Given the description of an element on the screen output the (x, y) to click on. 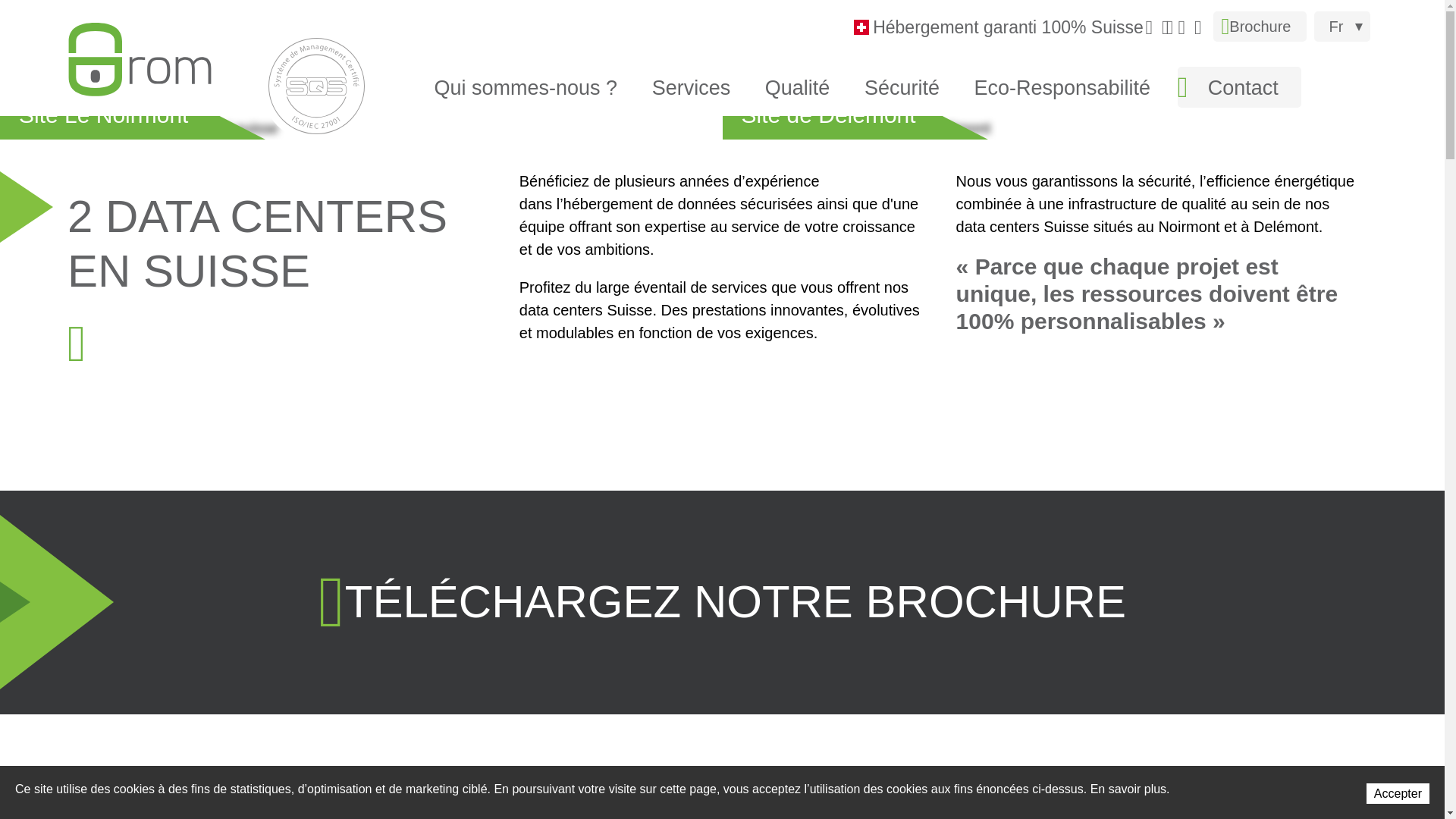
Brochure Element type: text (1259, 26)
Qui sommes-nous ? Element type: text (532, 86)
Services Element type: text (695, 86)
Accepter Element type: text (1397, 793)
Contact Element type: text (1239, 86)
